Given the description of an element on the screen output the (x, y) to click on. 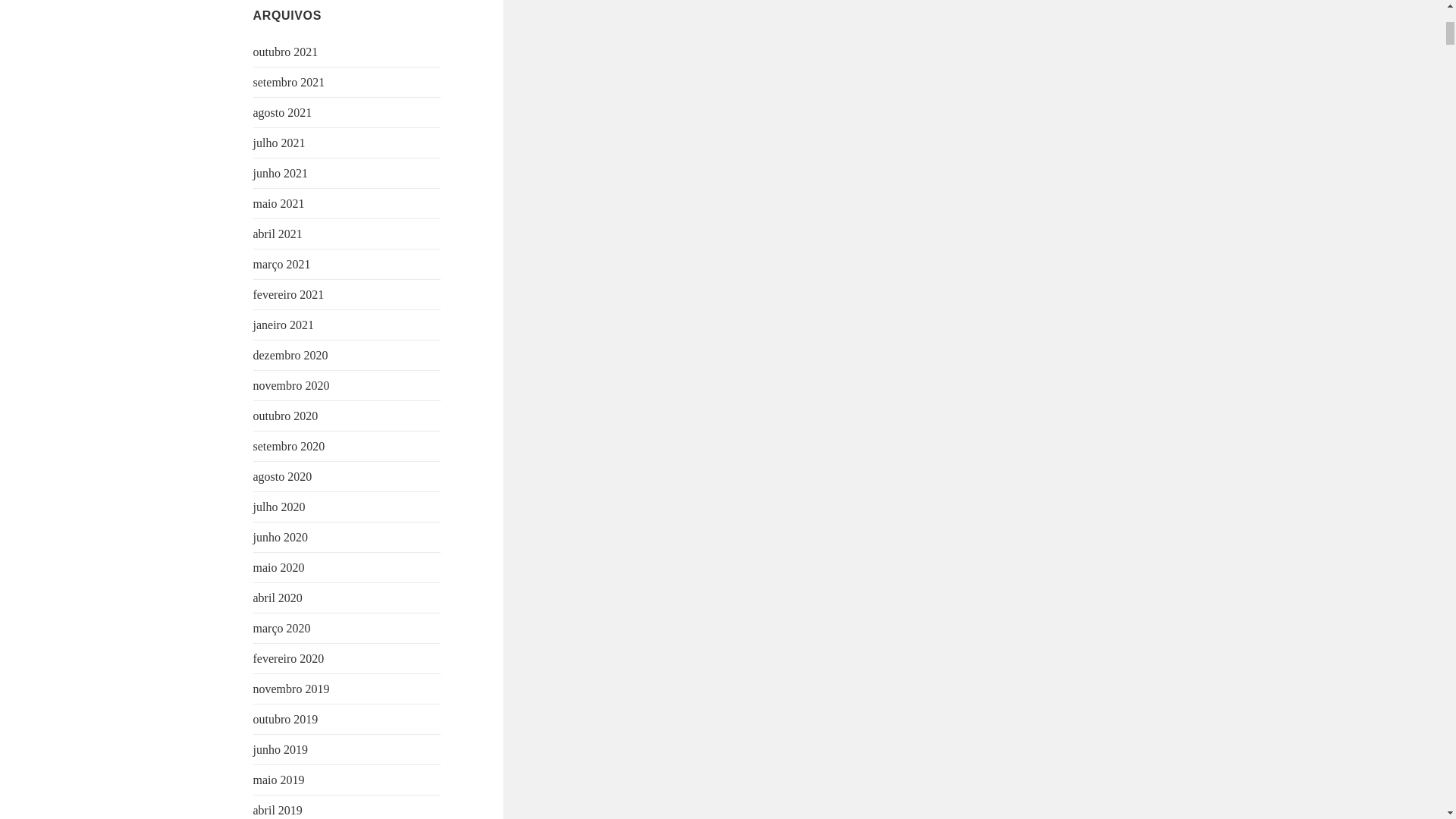
maio 2021 (278, 203)
julho 2020 (279, 506)
julho 2021 (279, 142)
outubro 2021 (285, 51)
novembro 2019 (291, 688)
novembro 2020 (291, 385)
abril 2020 (277, 597)
abril 2019 (277, 809)
setembro 2021 (288, 82)
junho 2020 (280, 536)
